Given the description of an element on the screen output the (x, y) to click on. 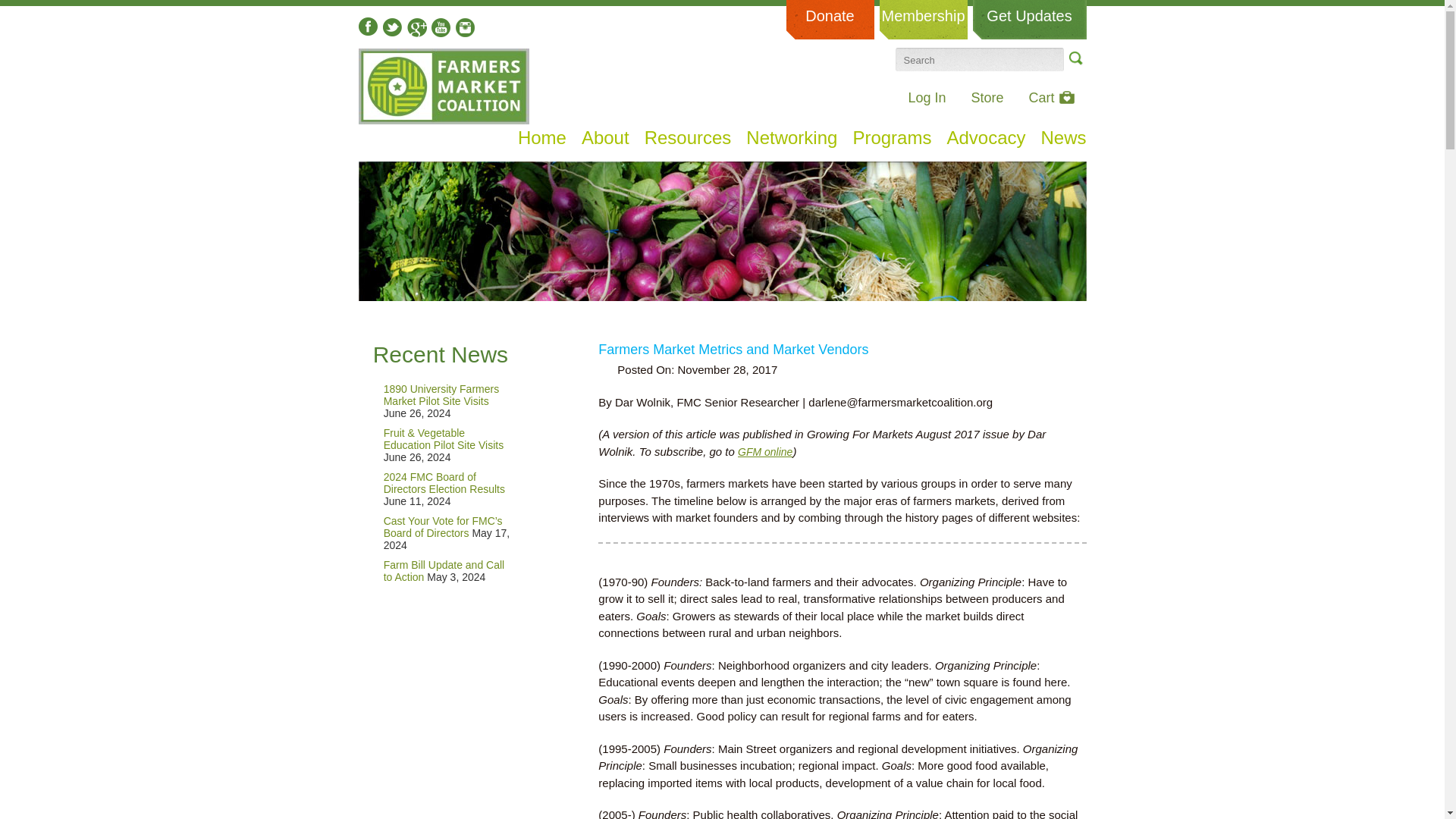
Skip to content (385, 132)
Programs (891, 137)
Search (1074, 58)
News (1063, 137)
Networking (791, 137)
Log In (925, 97)
Cart (1050, 97)
Get Updates (1029, 19)
Advocacy (985, 137)
Skip to content (385, 132)
Resources (688, 137)
Donate (829, 19)
Search (1074, 58)
Store (987, 97)
Membership (923, 19)
